Given the description of an element on the screen output the (x, y) to click on. 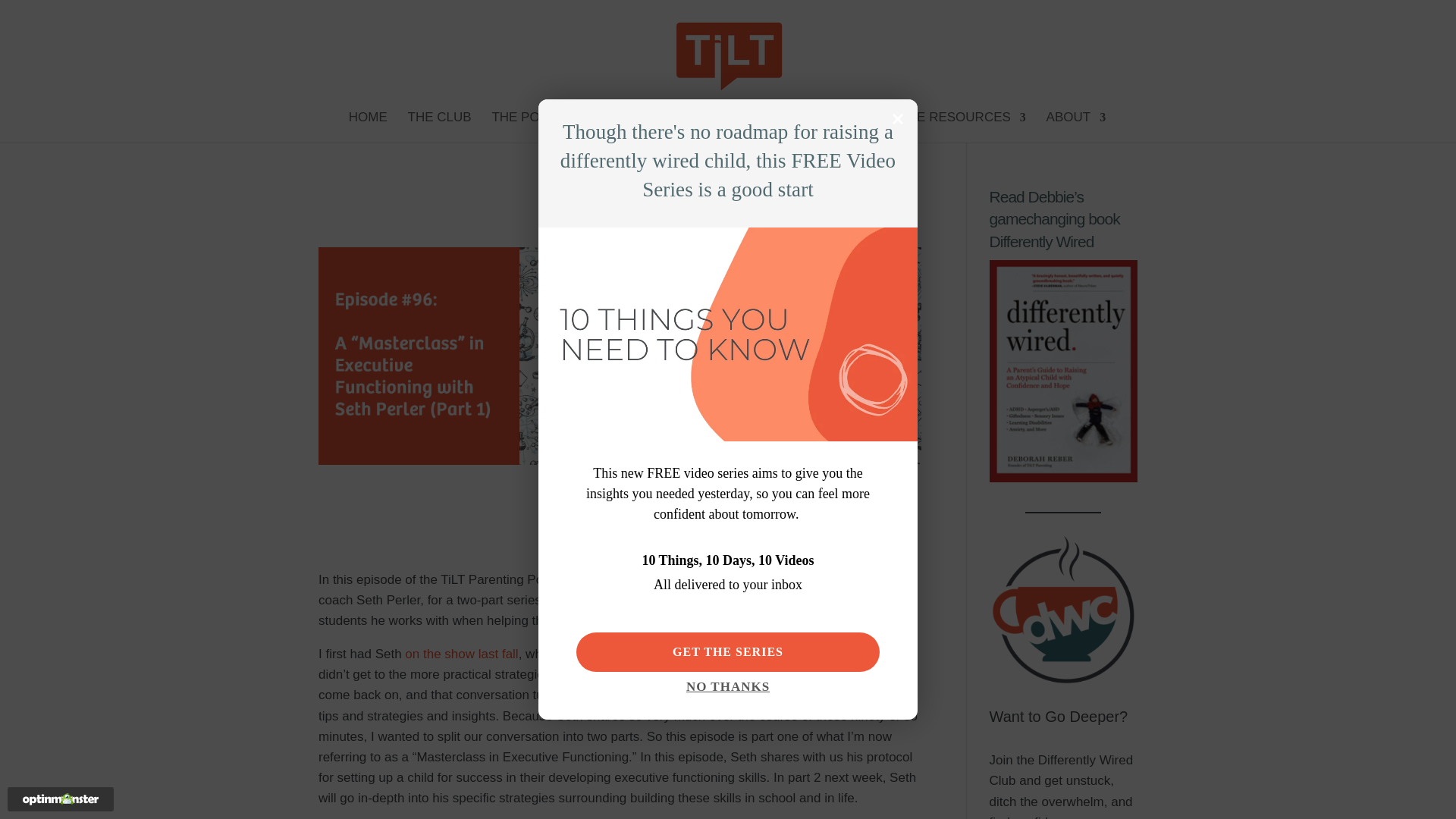
FREE RESOURCES (958, 127)
HOME (368, 127)
THE CLUB (439, 127)
No Thanks (727, 691)
Powered by OptinMonster (61, 799)
COURSES (738, 127)
Get the Series (727, 651)
THE BOOK (651, 127)
THE PODCAST (545, 127)
ABOUT (1076, 127)
SPEAKING (829, 127)
Close (897, 118)
